Given the description of an element on the screen output the (x, y) to click on. 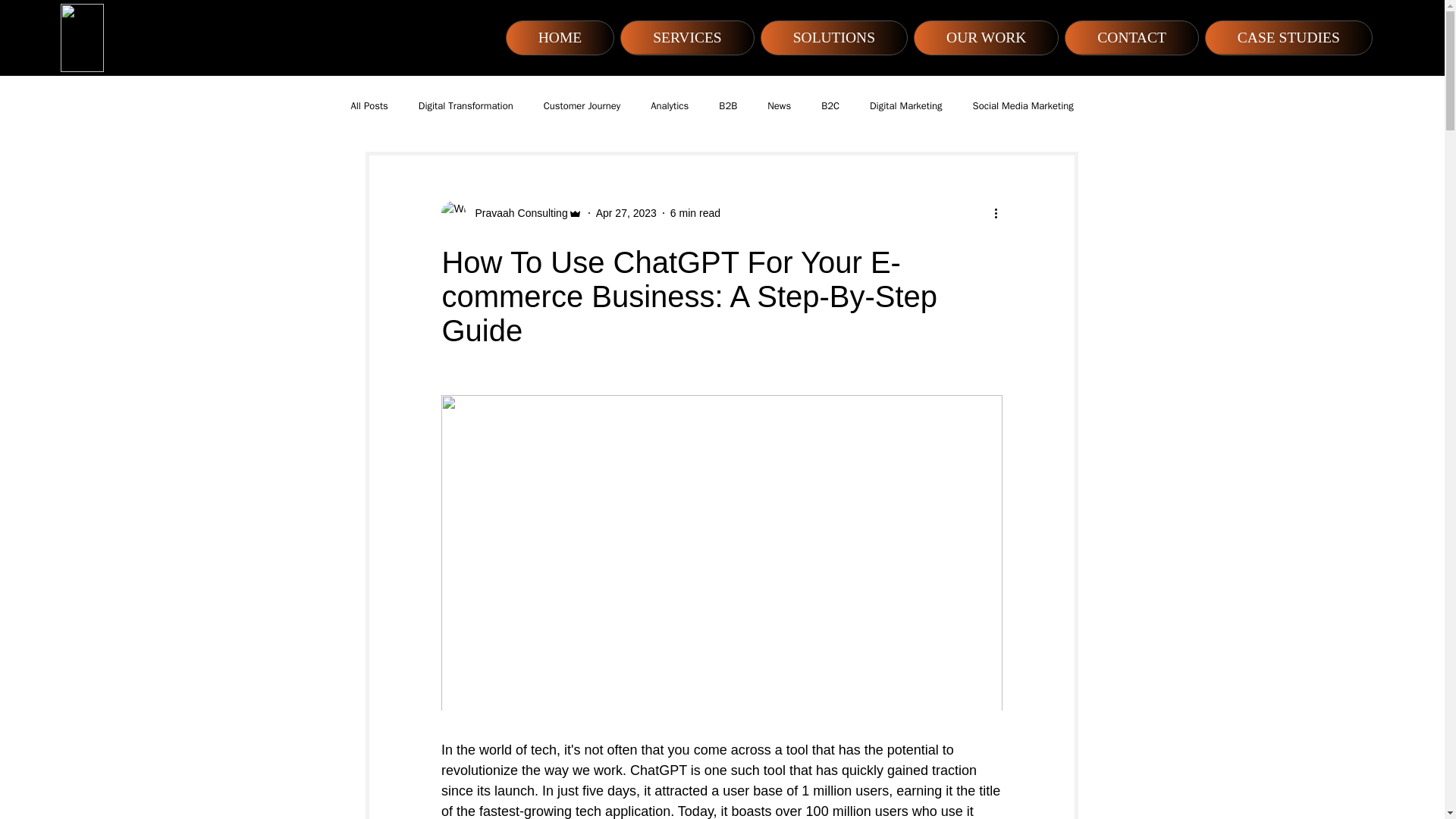
Digital Transformation (466, 106)
B2B (727, 106)
All Posts (368, 106)
Digital Marketing (905, 106)
SERVICES (687, 37)
Customer Journey (582, 106)
OUR WORK (986, 37)
Pravaah Consulting (516, 212)
6 min read (694, 212)
HOME (559, 37)
